Given the description of an element on the screen output the (x, y) to click on. 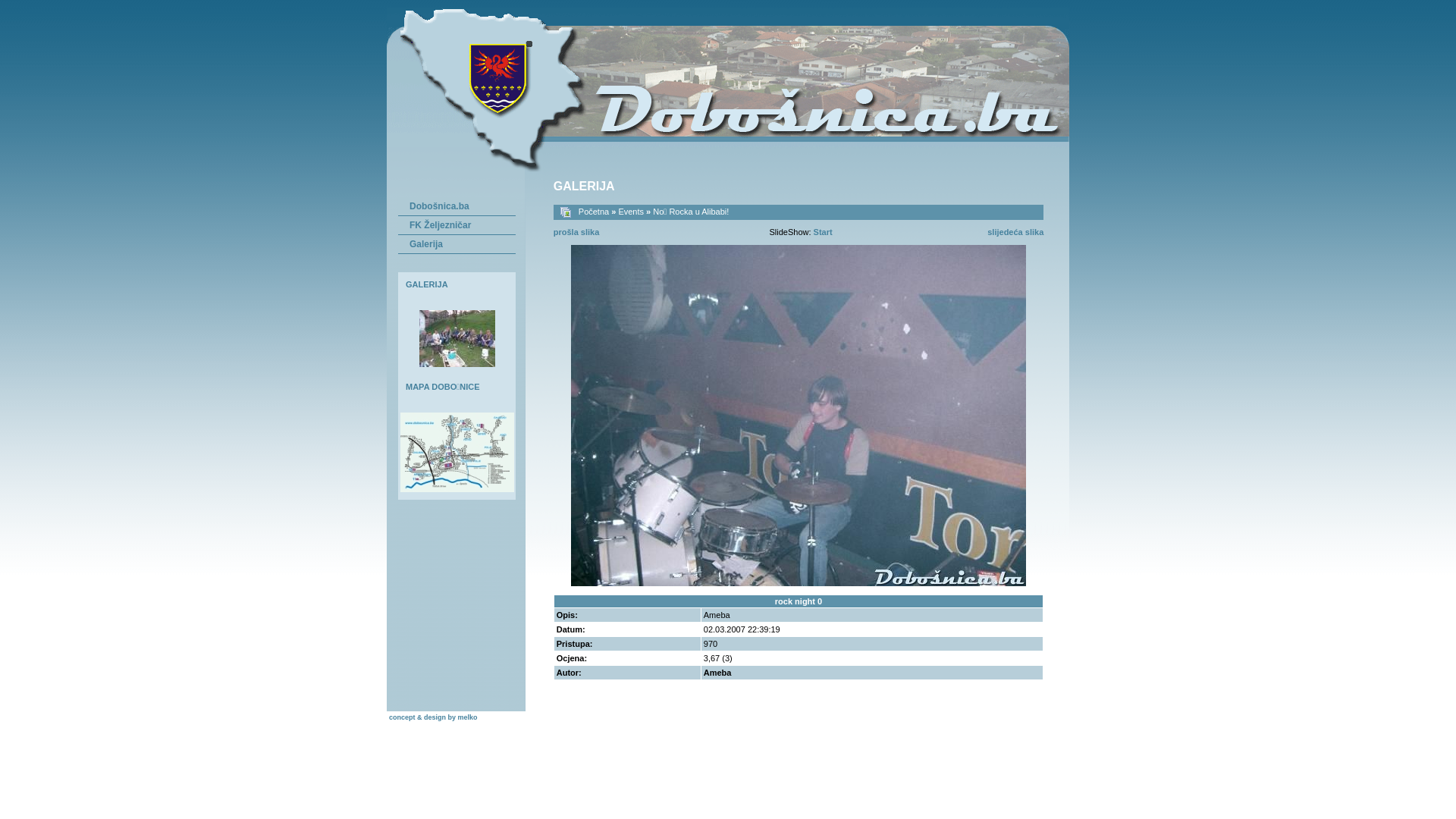
Events Element type: text (630, 211)
Galerija Element type: text (460, 244)
Start Element type: text (822, 231)
